Given the description of an element on the screen output the (x, y) to click on. 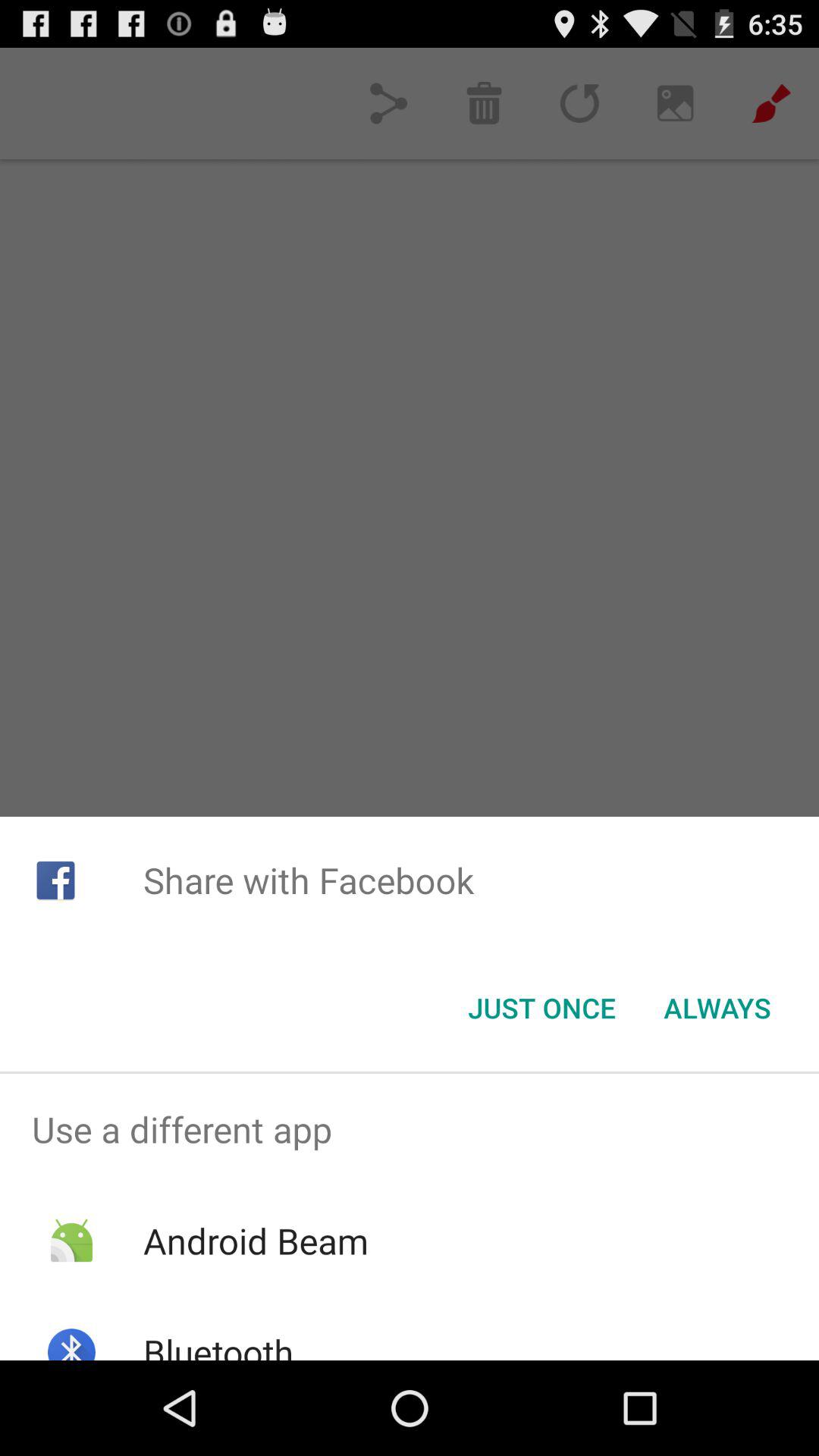
click item below share with facebook app (717, 1007)
